Given the description of an element on the screen output the (x, y) to click on. 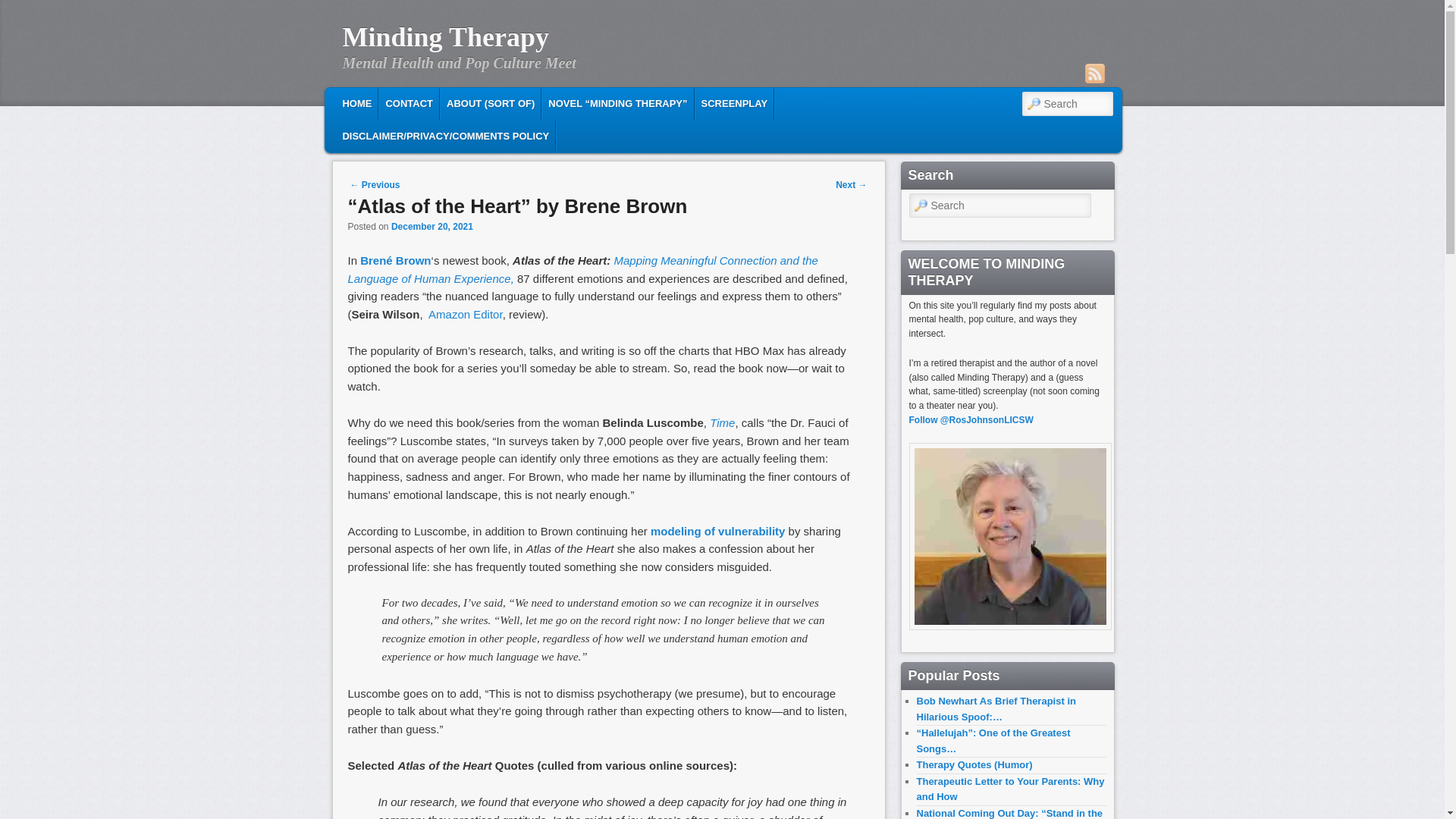
Time (722, 422)
SCREENPLAY (734, 103)
HOME (356, 103)
Minding Therapy (445, 37)
CONTACT (408, 103)
Skip to secondary content (432, 102)
9:00 AM (432, 226)
Skip to primary content (421, 102)
RSS (1093, 73)
SKIP TO SECONDARY CONTENT (432, 102)
